Given the description of an element on the screen output the (x, y) to click on. 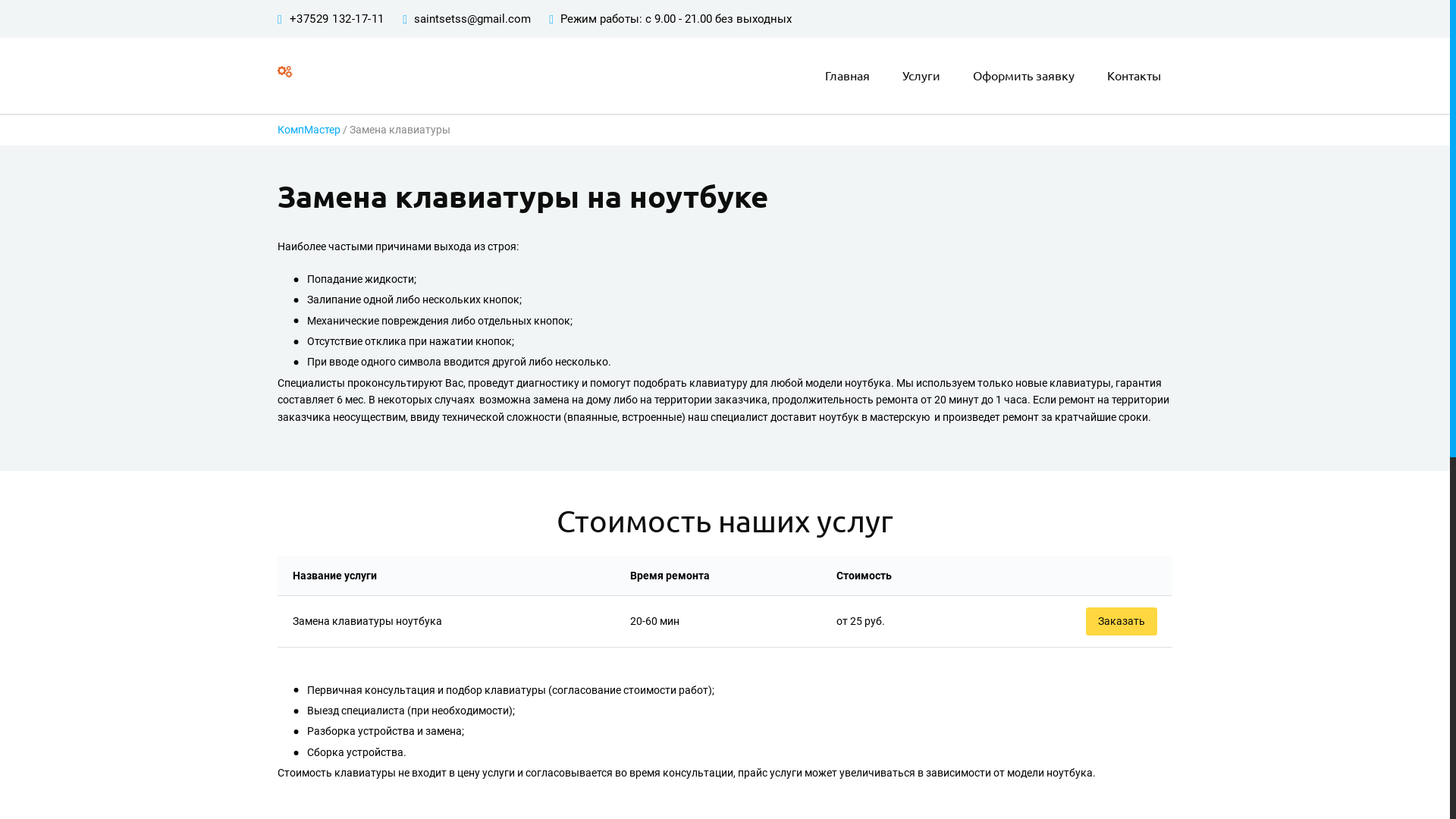
saintsetss@gmail.com Element type: text (472, 18)
